Given the description of an element on the screen output the (x, y) to click on. 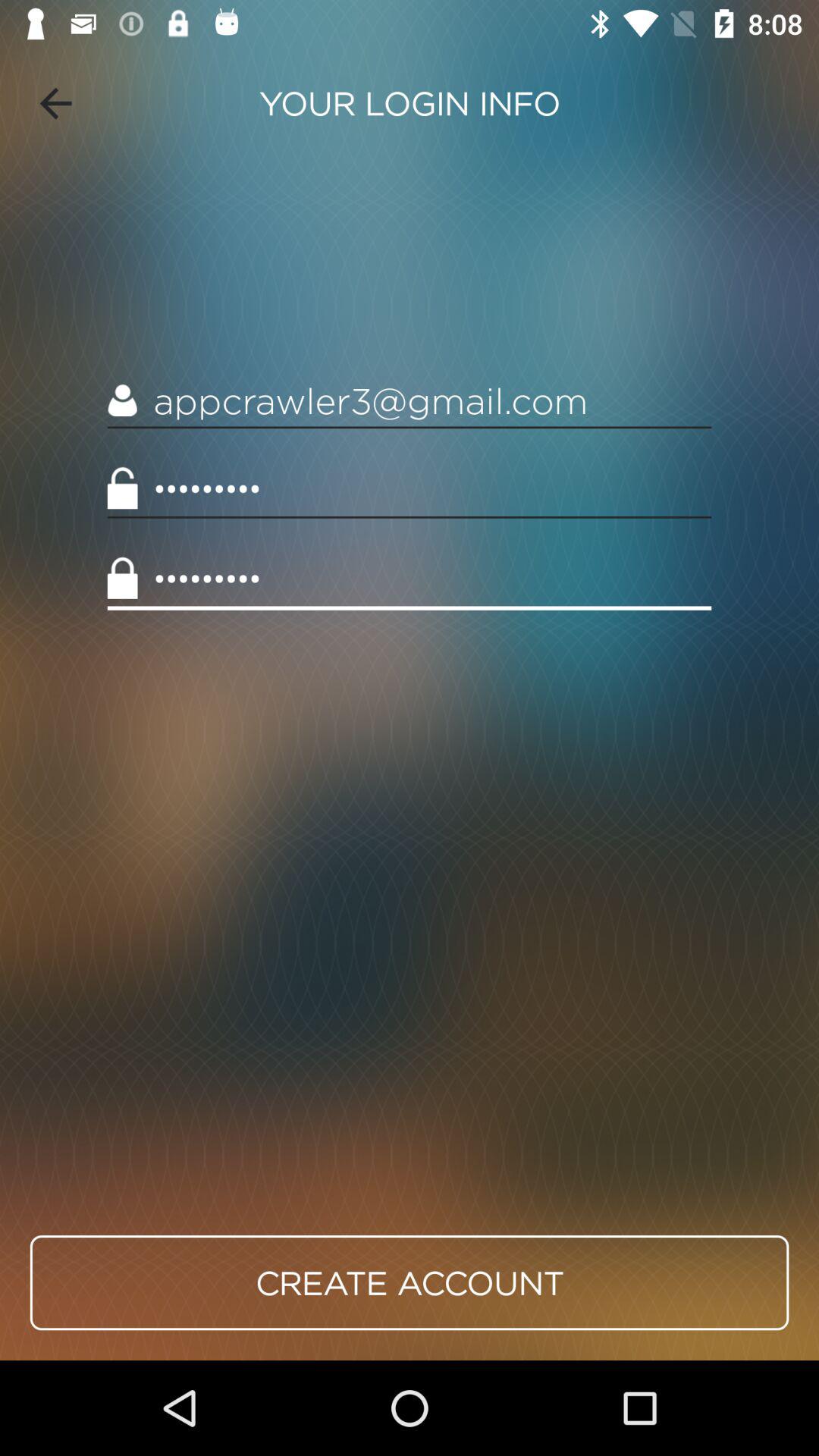
press the item at the top left corner (55, 103)
